Given the description of an element on the screen output the (x, y) to click on. 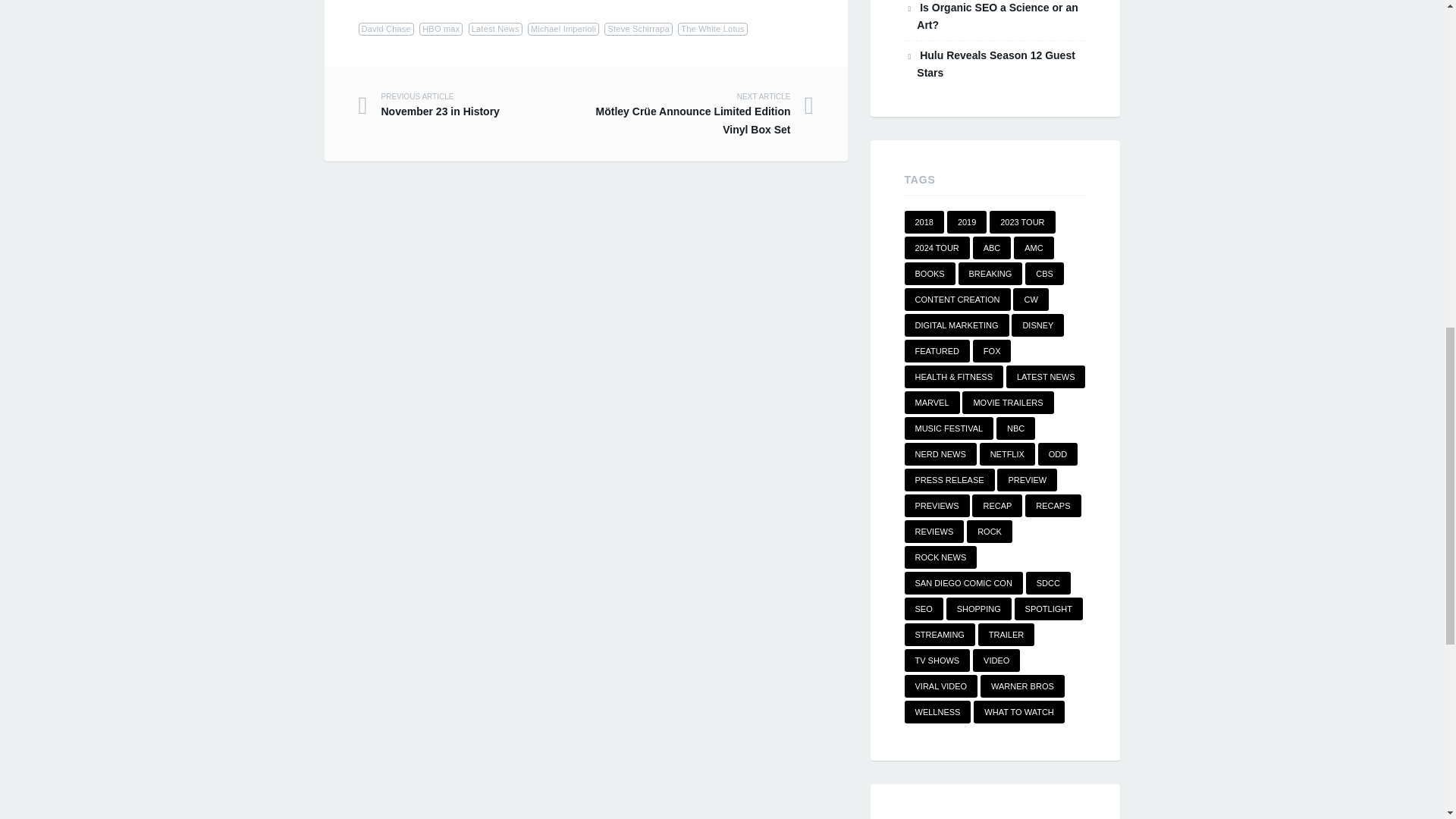
2018 (923, 221)
HBO max (441, 29)
The White Lotus (712, 29)
David Chase (385, 29)
2019 (967, 221)
ABC (991, 247)
Michael Imperioli (562, 29)
2023 TOUR (1022, 221)
Is Organic SEO a Science or an Art? (997, 16)
2024 TOUR (936, 247)
AMC (1032, 247)
BREAKING (990, 273)
BOOKS (471, 105)
Steve Schirrapa (929, 273)
